Given the description of an element on the screen output the (x, y) to click on. 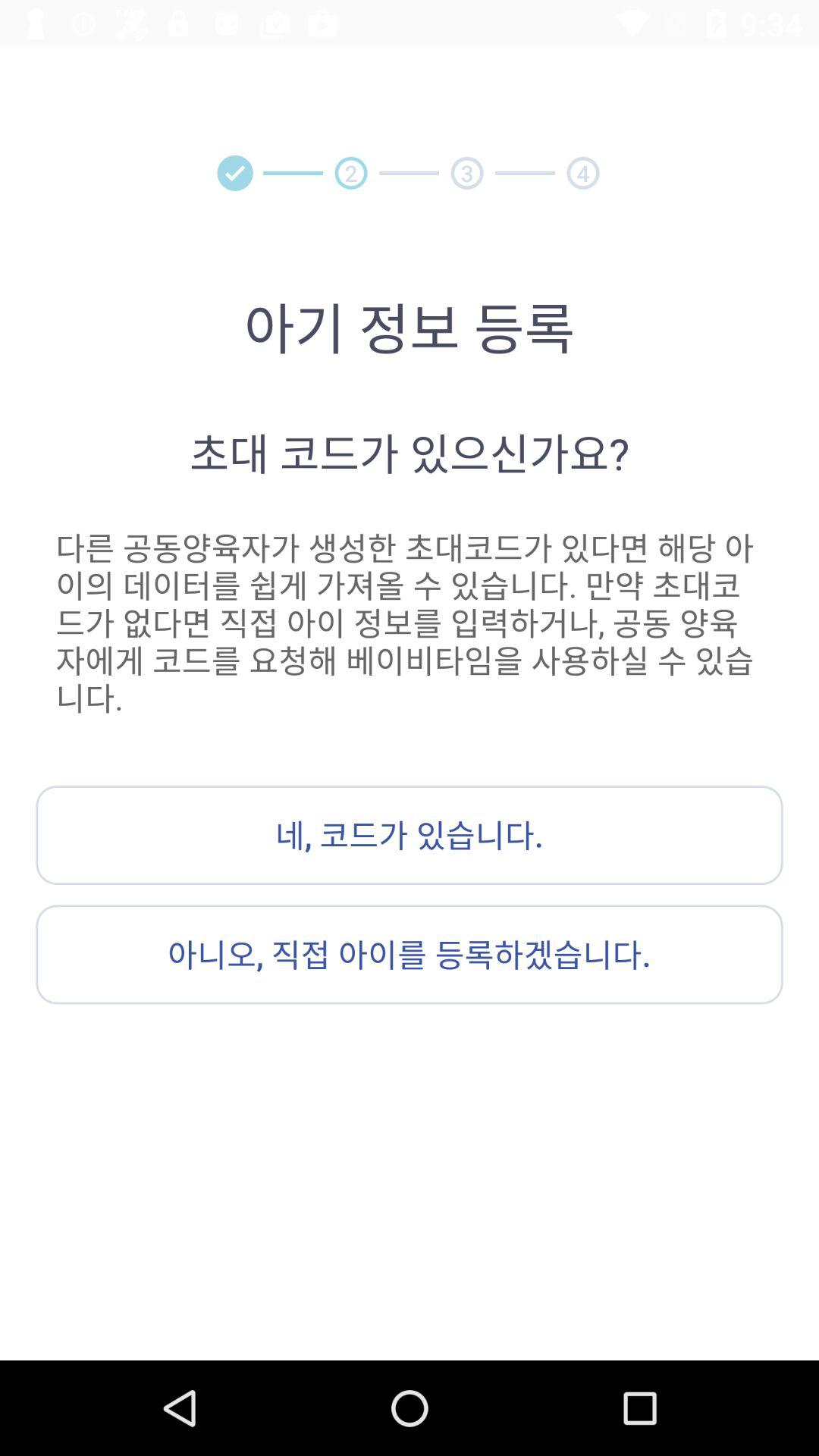
tap the 4 at the top right corner (583, 173)
